Given the description of an element on the screen output the (x, y) to click on. 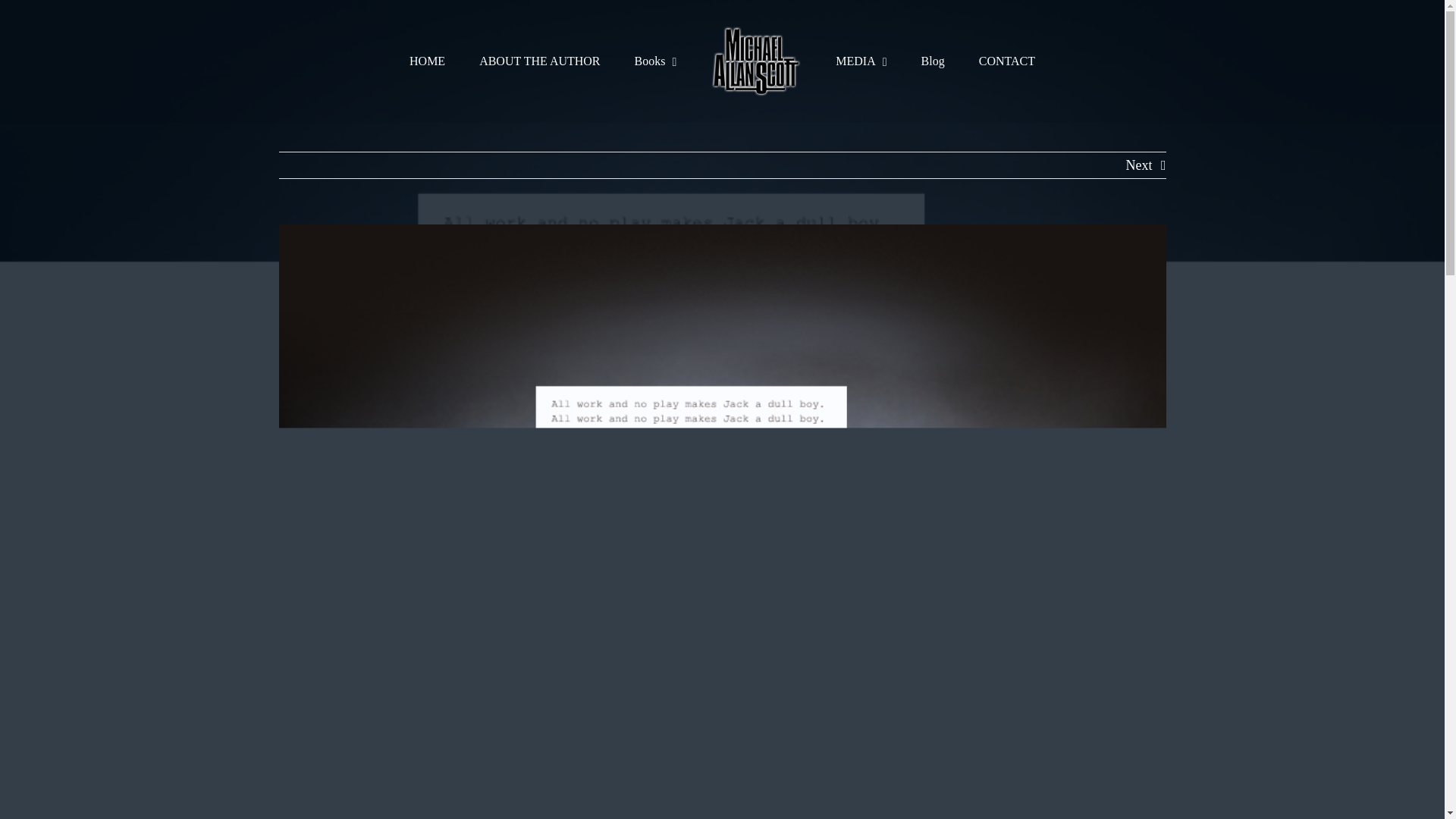
Next (1138, 165)
ABOUT THE AUTHOR (539, 61)
